Given the description of an element on the screen output the (x, y) to click on. 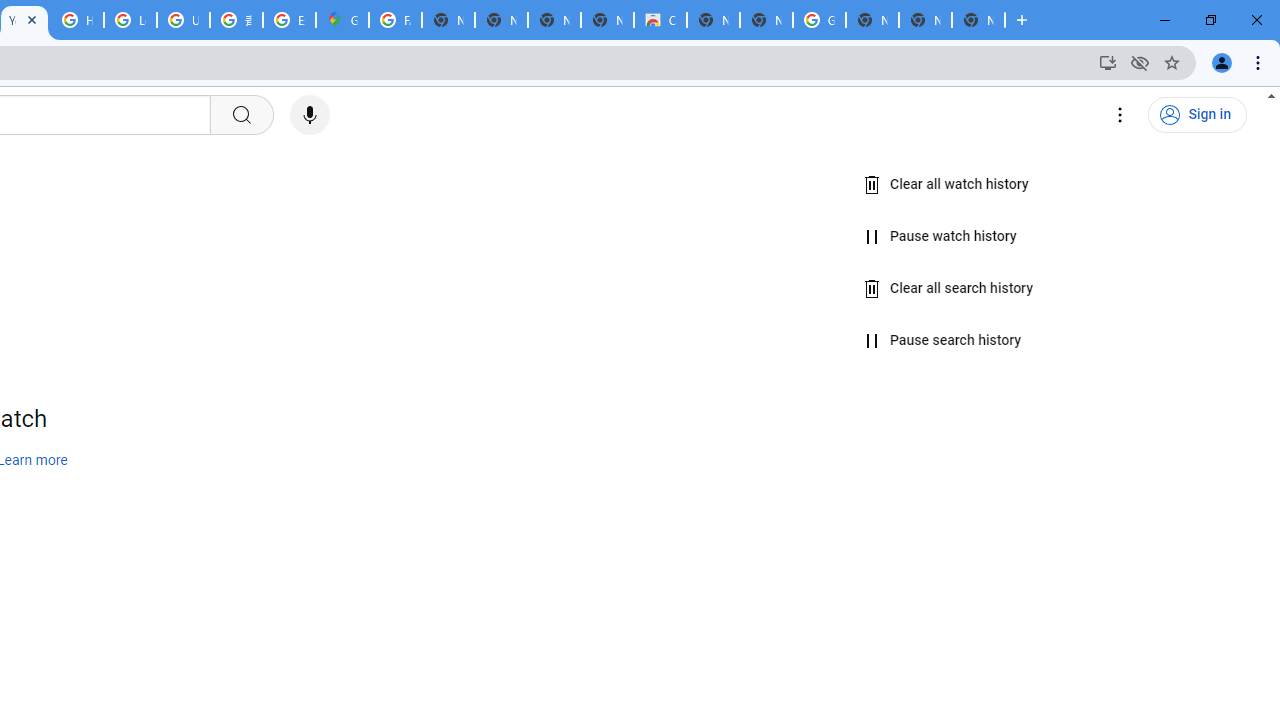
Search with your voice (309, 115)
New Tab (872, 20)
Pause search history (942, 341)
How Chrome protects your passwords - Google Chrome Help (77, 20)
New Tab (978, 20)
Chrome Web Store (660, 20)
Clear all watch history (946, 185)
Pause watch history (940, 236)
